Given the description of an element on the screen output the (x, y) to click on. 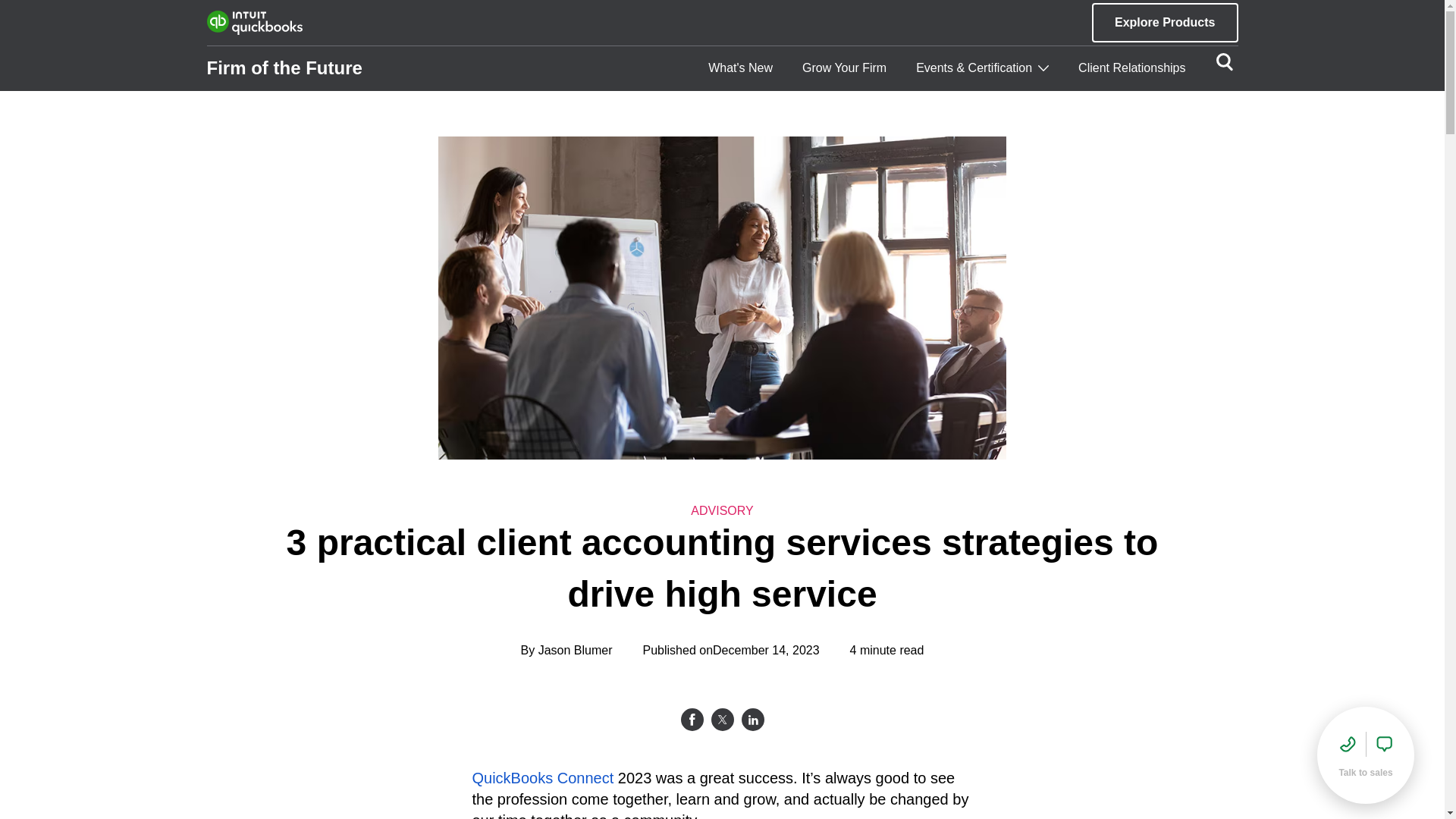
Firm of the Future (283, 67)
Grow Your Firm (844, 67)
What's New (740, 67)
Explore Products (1164, 22)
Share on Facebook (692, 719)
Jason Blumer (575, 650)
Share on Twitter (722, 719)
QuickBooks Connect (541, 777)
Share on LinkedIn (752, 719)
ADVISORY (721, 510)
Client Relationships (1131, 67)
